Given the description of an element on the screen output the (x, y) to click on. 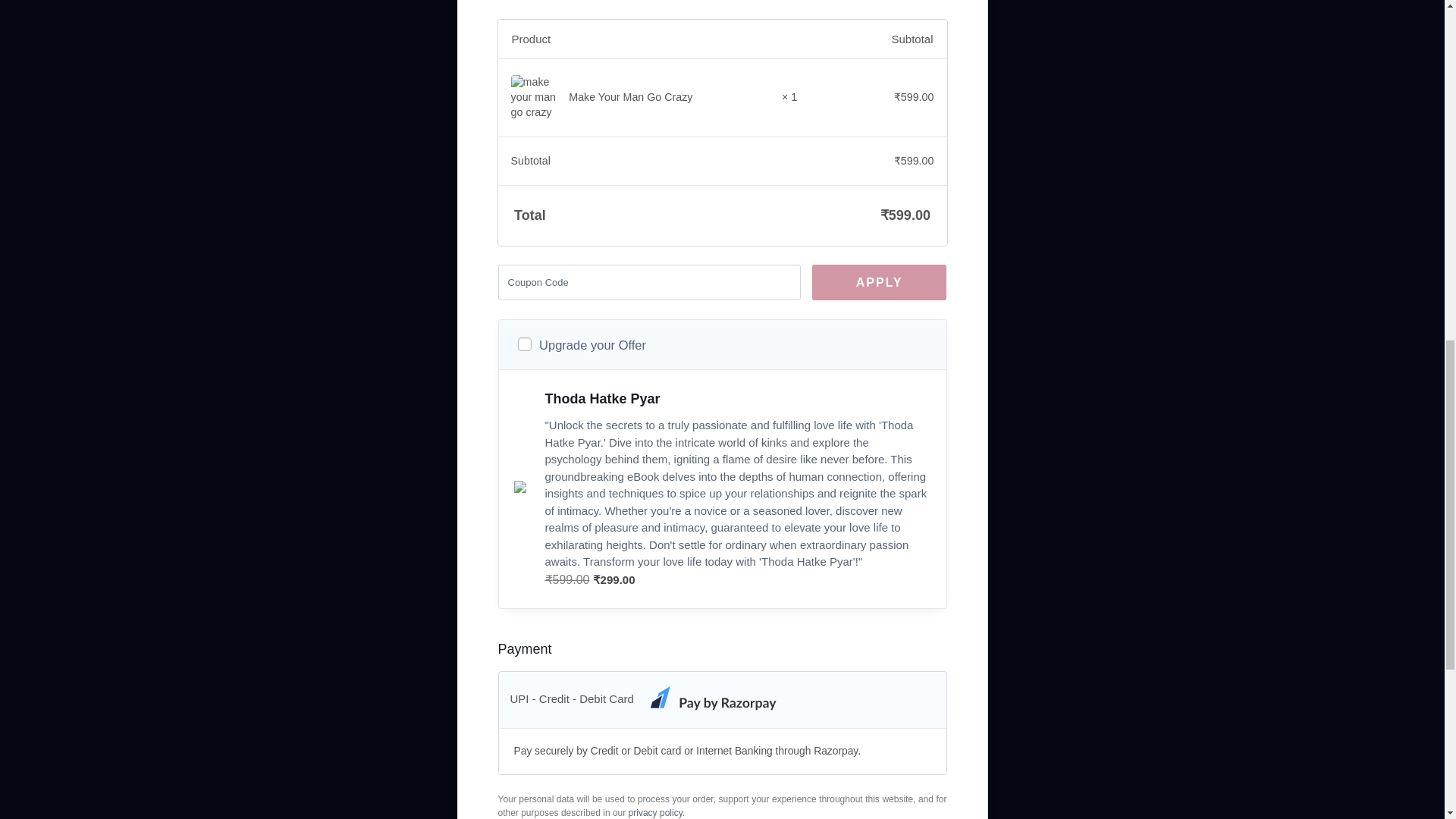
privacy policy (655, 812)
APPLY (879, 282)
9ni (523, 344)
